Given the description of an element on the screen output the (x, y) to click on. 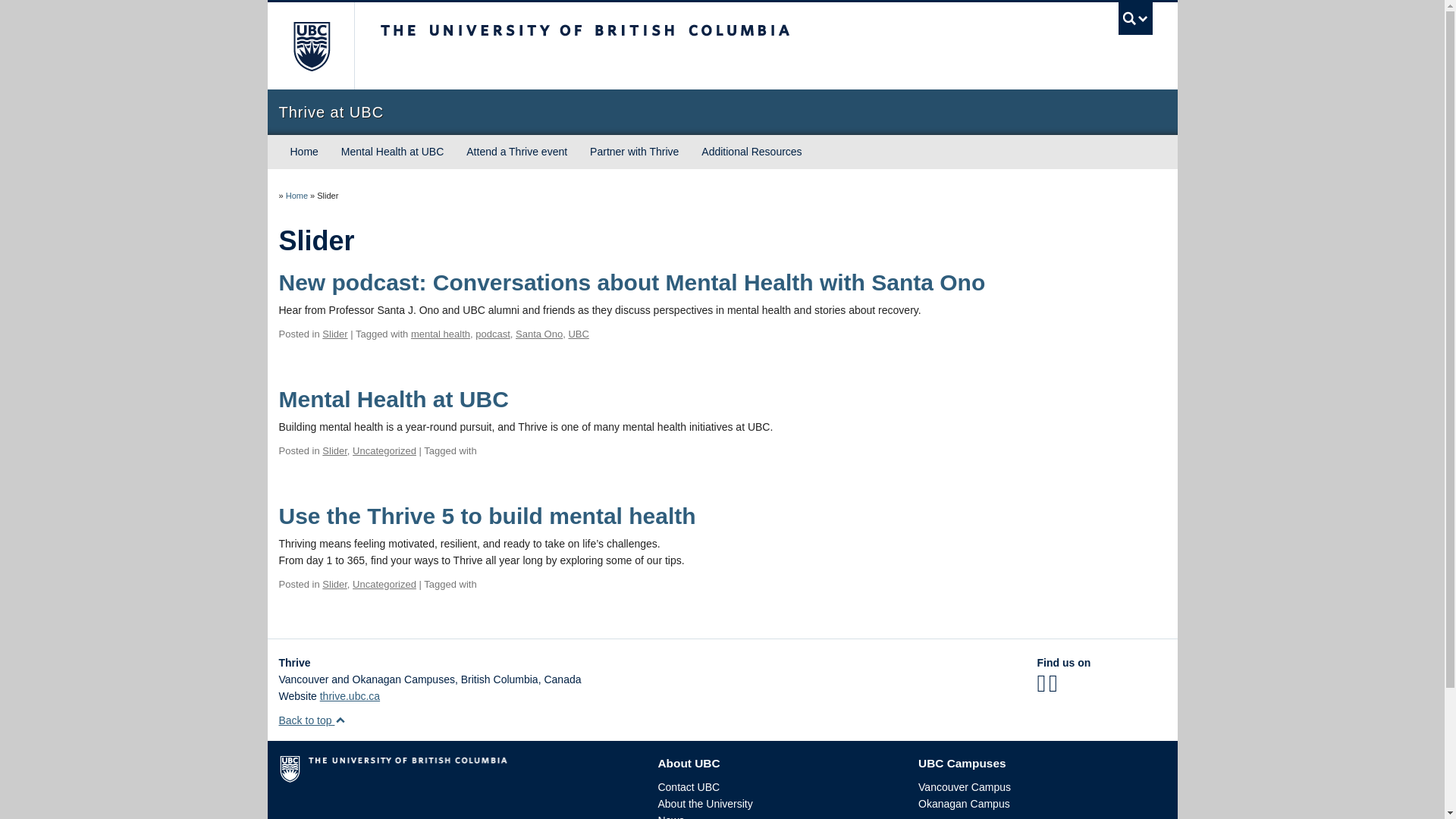
thrive.ubc.ca (350, 695)
Uncategorized (384, 583)
podcast (493, 333)
Back to top (312, 720)
Back to top (312, 720)
Mental Health at UBC (393, 398)
The University of British Columbia (635, 45)
UBC (577, 333)
Attend a Thrive event (516, 151)
Partner with Thrive (634, 151)
Uncategorized (384, 450)
Thrive at UBC (722, 112)
Mental Health at UBC (392, 151)
Thrive at UBC (296, 194)
